Given the description of an element on the screen output the (x, y) to click on. 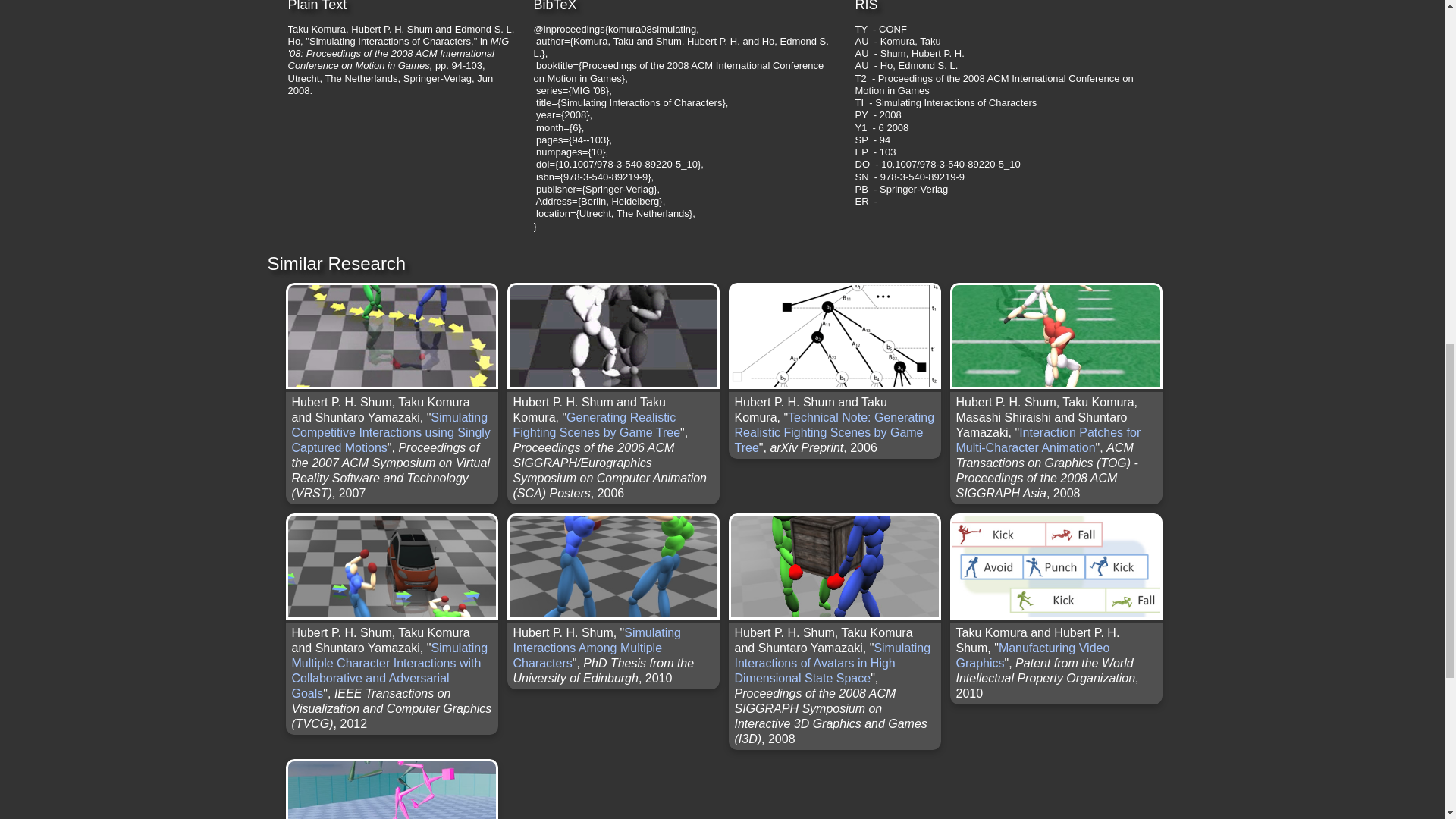
Interaction Patches for Multi-Character Animation (1047, 439)
Generating Realistic Fighting Scenes by Game Tree (595, 424)
Simulating Interactions Among Multiple Characters (595, 647)
